Given the description of an element on the screen output the (x, y) to click on. 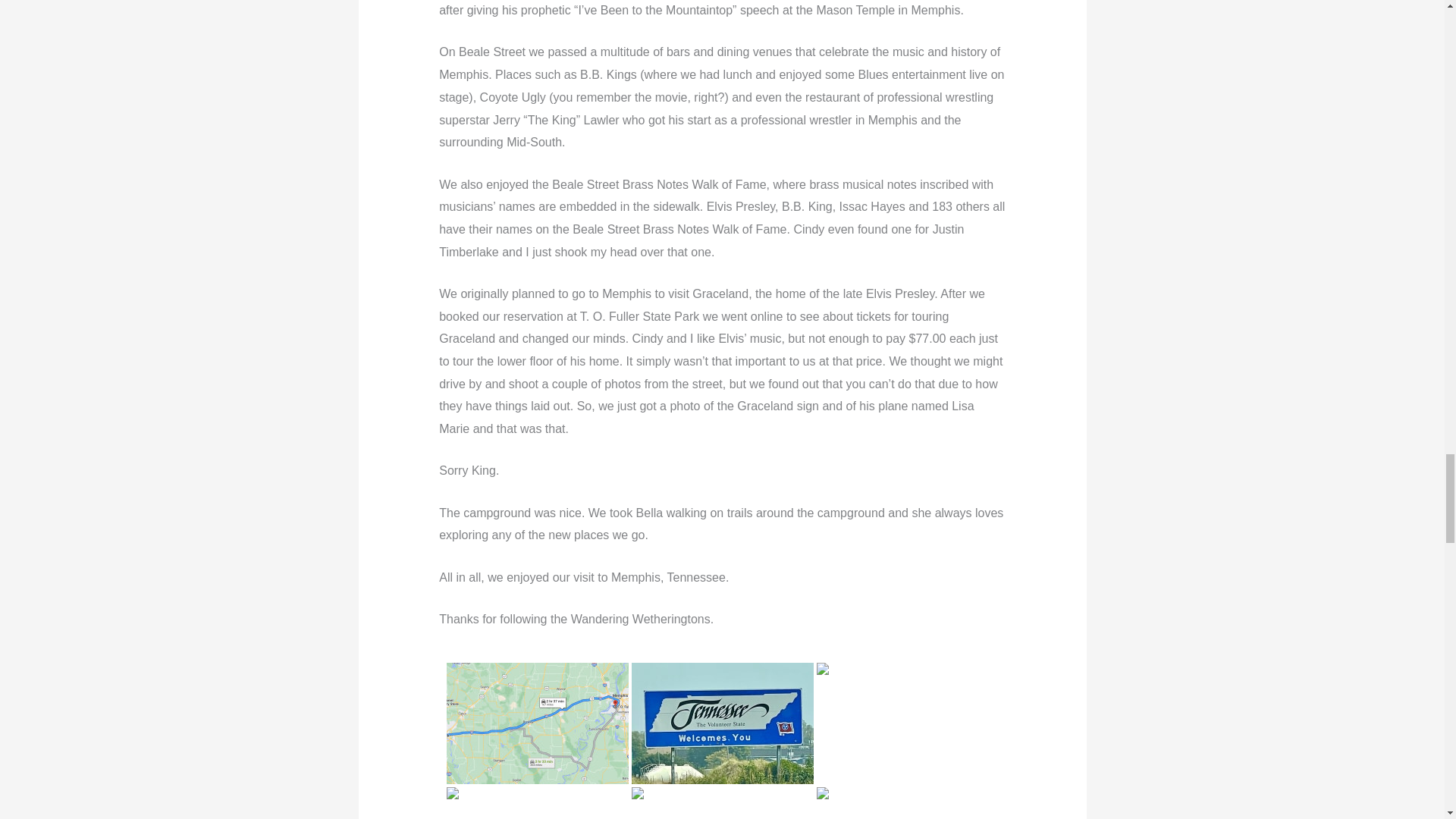
507D48D9-C09B-4AAA-801C-4F495DC437E2 (721, 722)
A658BBD3-F06C-43A1-B19C-86E2413CCE2B (536, 722)
A2AF14F1-F8F9-4AED-87AE-CDF587D2FFA7 (906, 722)
8E73A625-5766-47BD-9716-47CCBBD84A71 (721, 803)
438B95C7-37B2-4725-B934-CD762D61CC3C (536, 803)
